Given the description of an element on the screen output the (x, y) to click on. 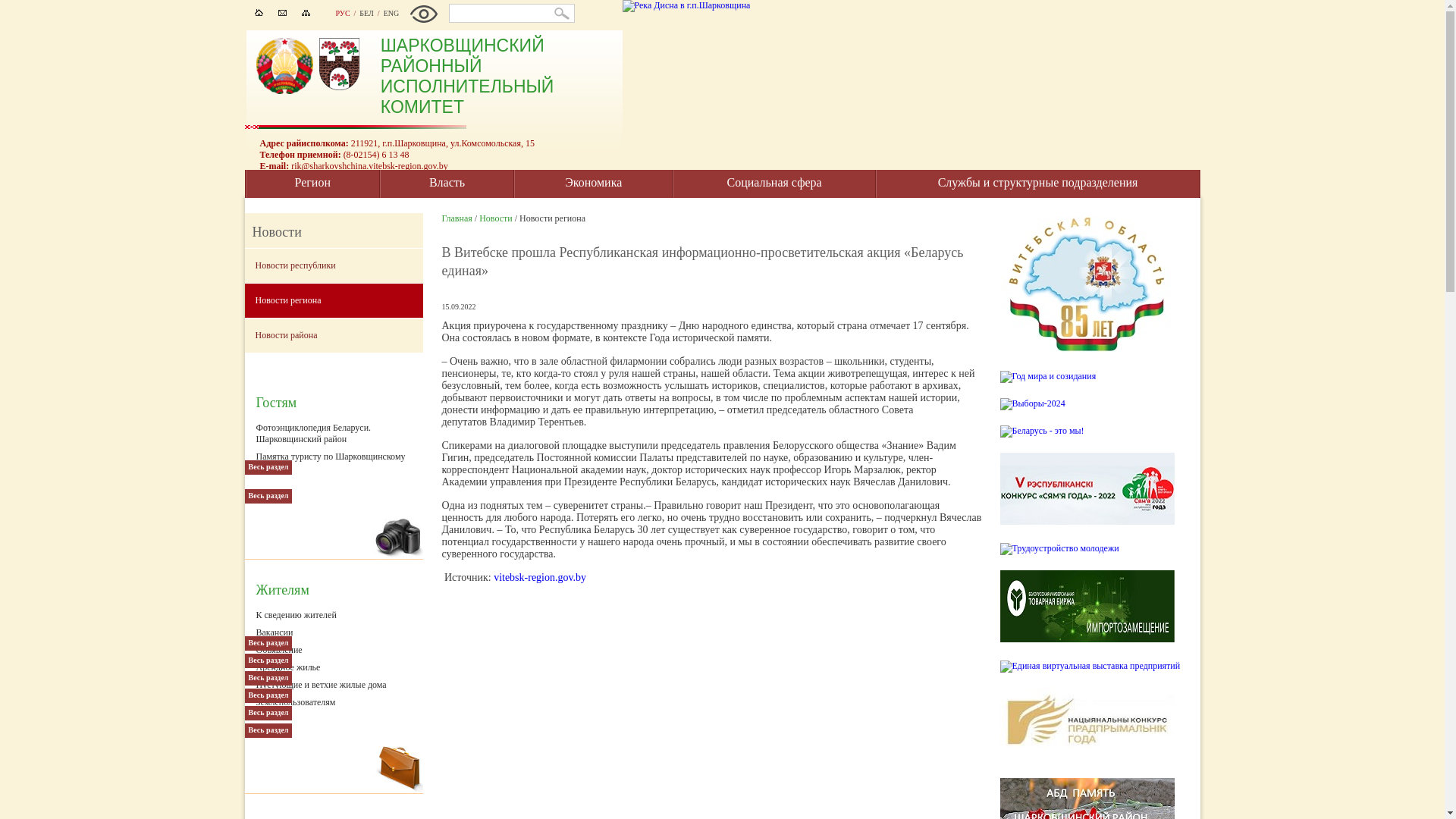
rik@sharkovshchina.vitebsk-region.gov.by Element type: text (369, 165)
ENG Element type: text (391, 13)
vitebsk-region.gov.by Element type: text (539, 577)
